Given the description of an element on the screen output the (x, y) to click on. 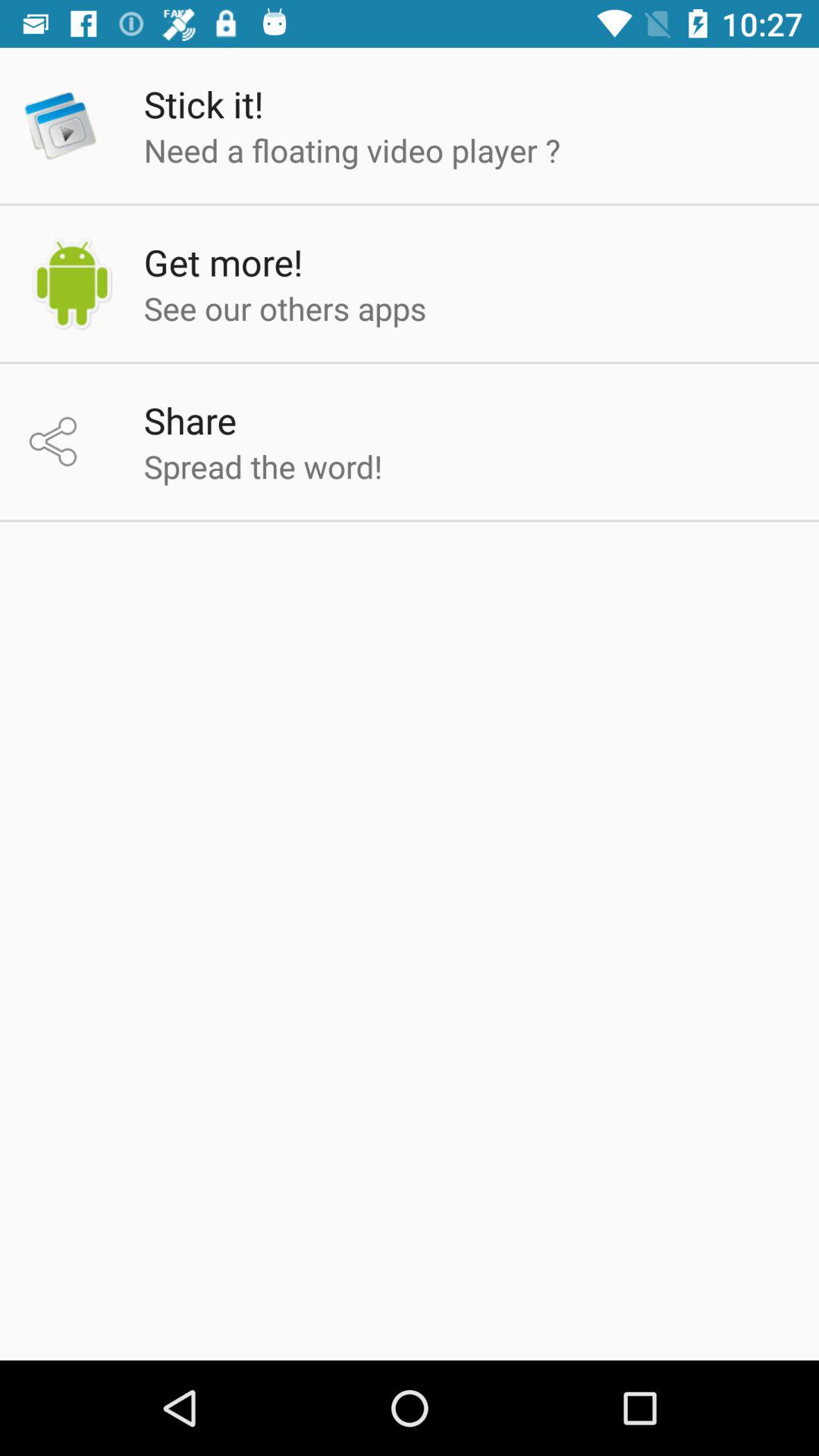
scroll until the stick it! item (203, 103)
